Given the description of an element on the screen output the (x, y) to click on. 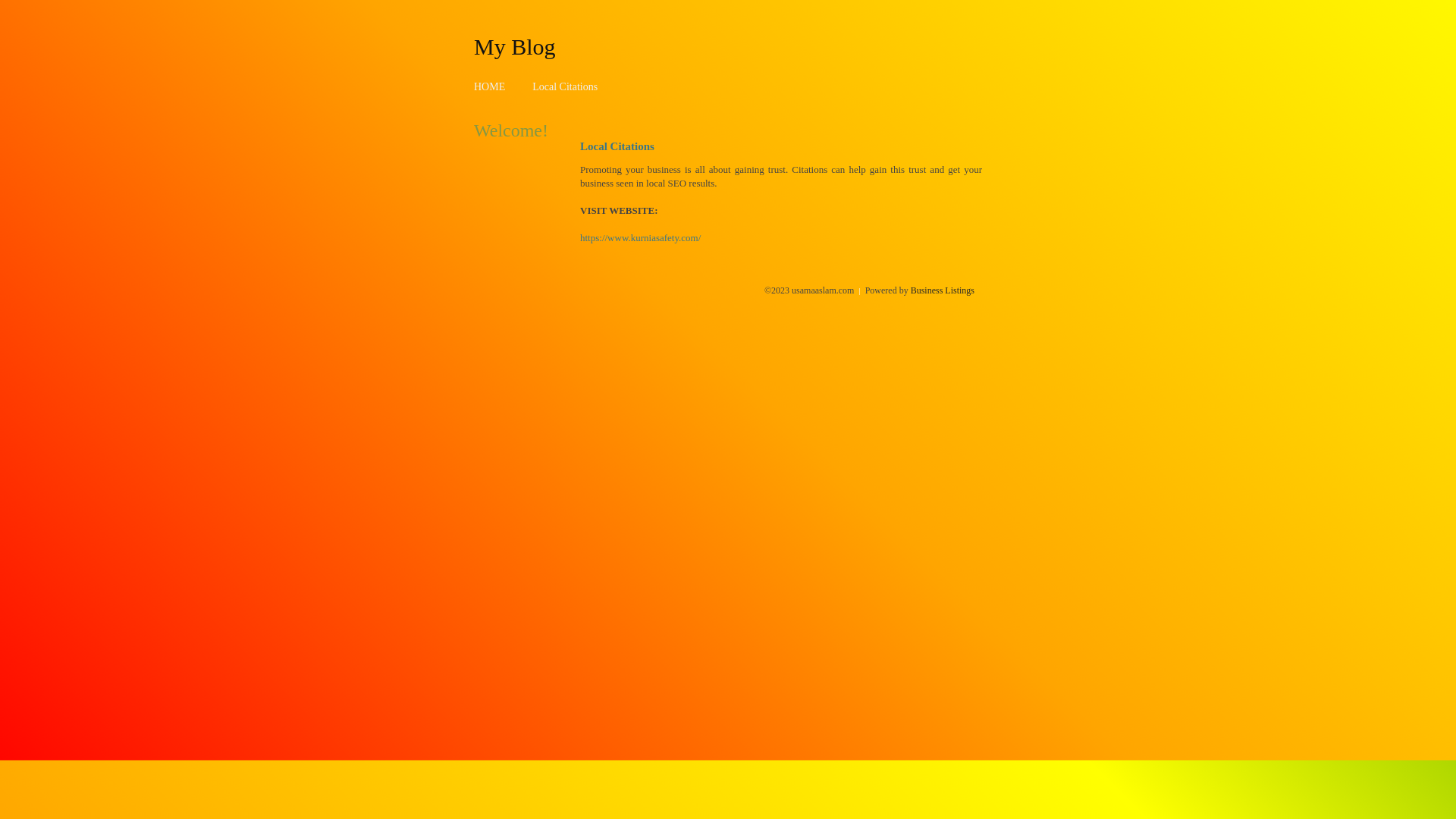
HOME Element type: text (489, 86)
Business Listings Element type: text (942, 290)
https://www.kurniasafety.com/ Element type: text (640, 237)
Local Citations Element type: text (564, 86)
My Blog Element type: text (514, 46)
